Given the description of an element on the screen output the (x, y) to click on. 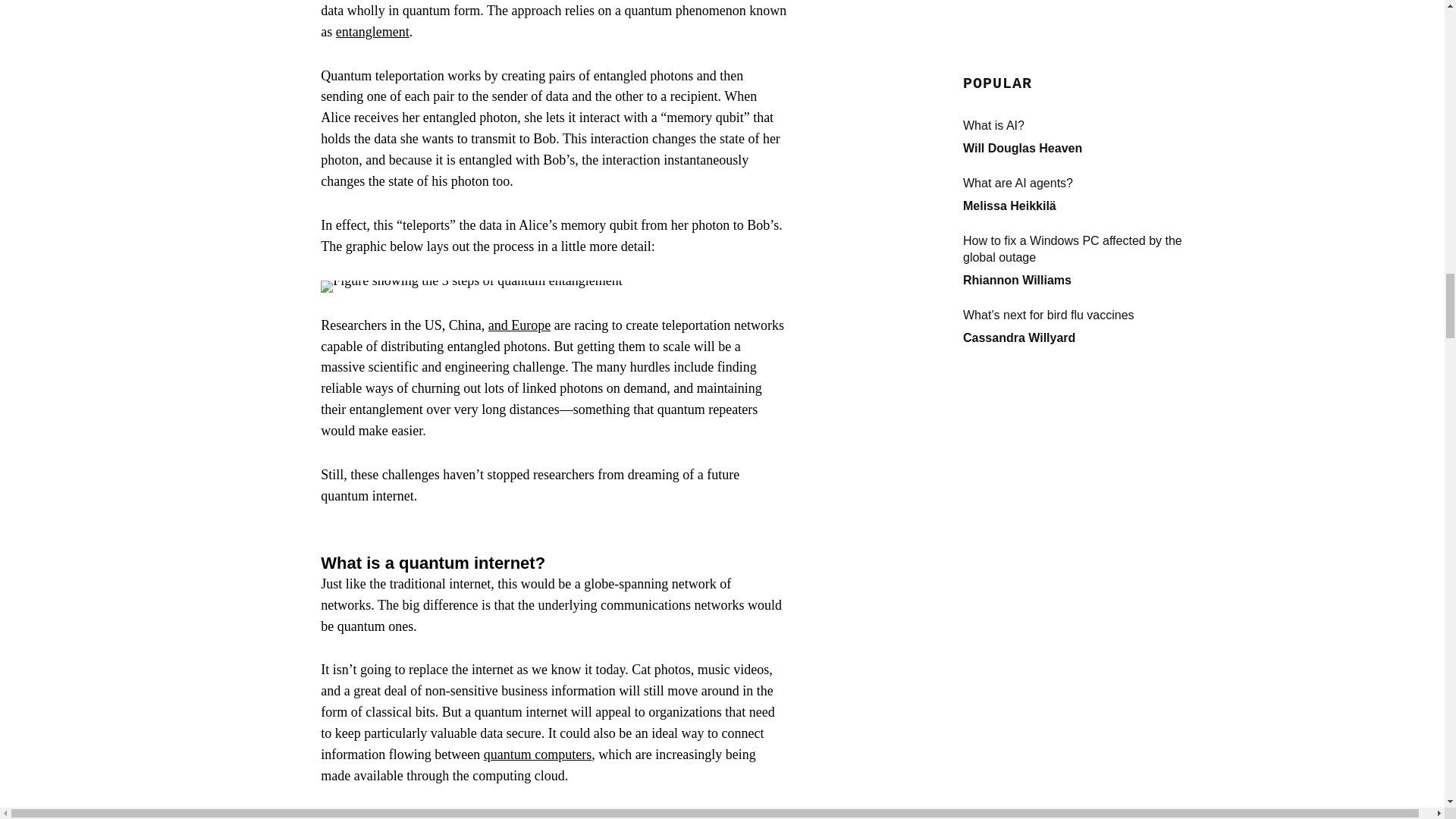
and Europe (518, 324)
quantum computers (537, 754)
entanglement (372, 31)
China is in the vanguard (387, 815)
